Given the description of an element on the screen output the (x, y) to click on. 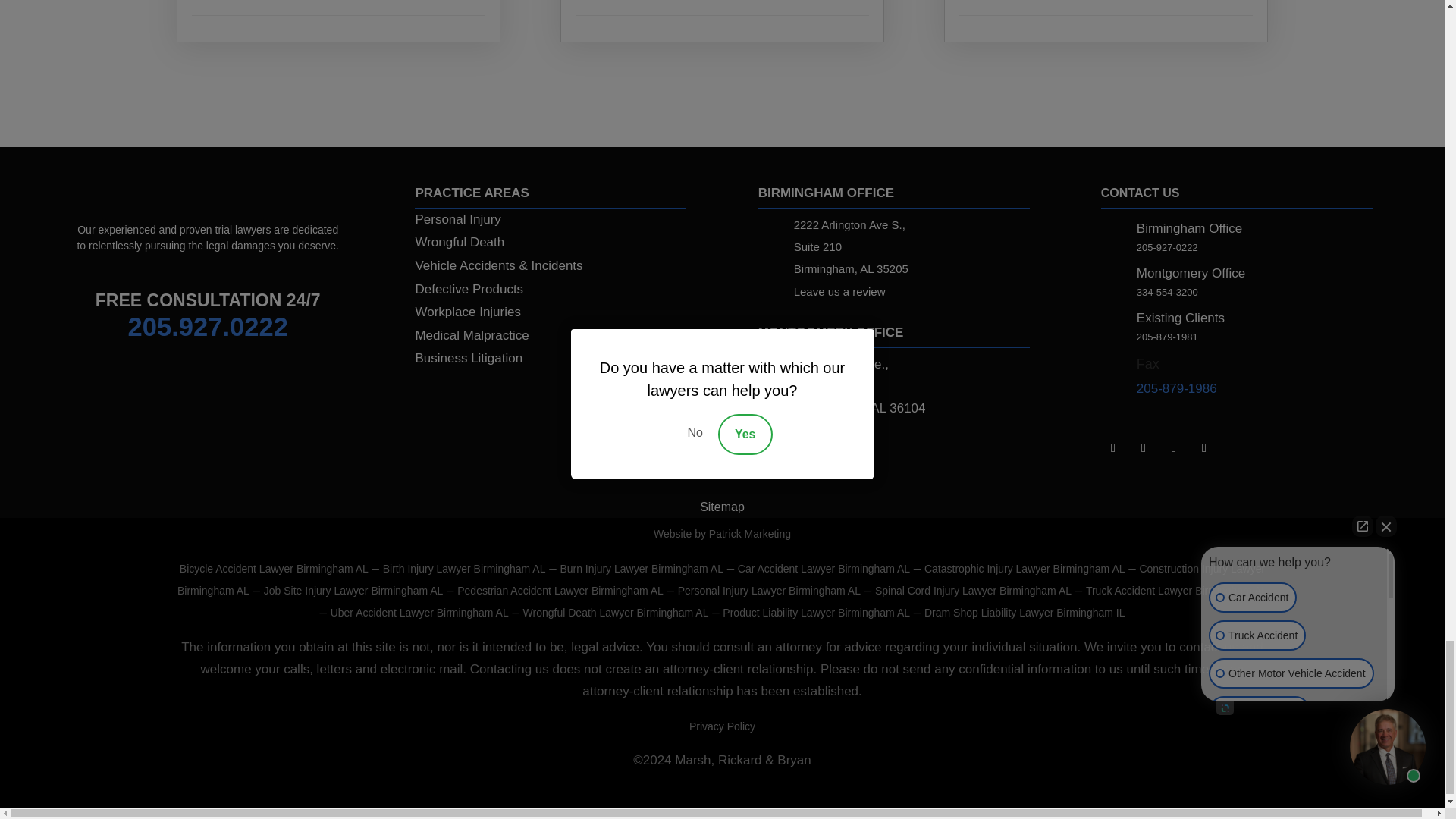
Follow on X (1173, 447)
Follow on LinkedIn (1112, 447)
Follow on Facebook (1143, 447)
Follow on Youtube (1203, 447)
